Given the description of an element on the screen output the (x, y) to click on. 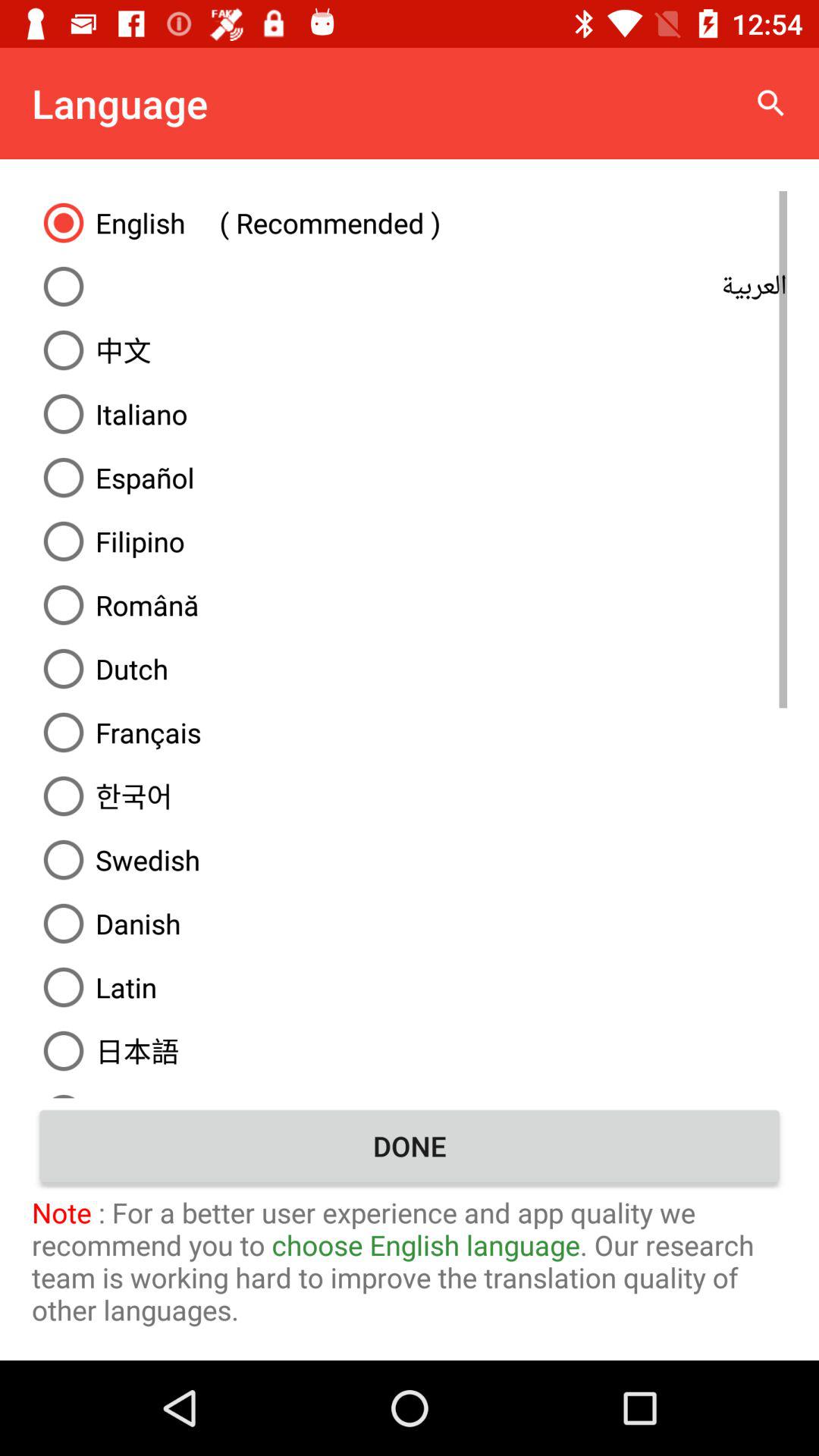
launch the italiano item (409, 413)
